Given the description of an element on the screen output the (x, y) to click on. 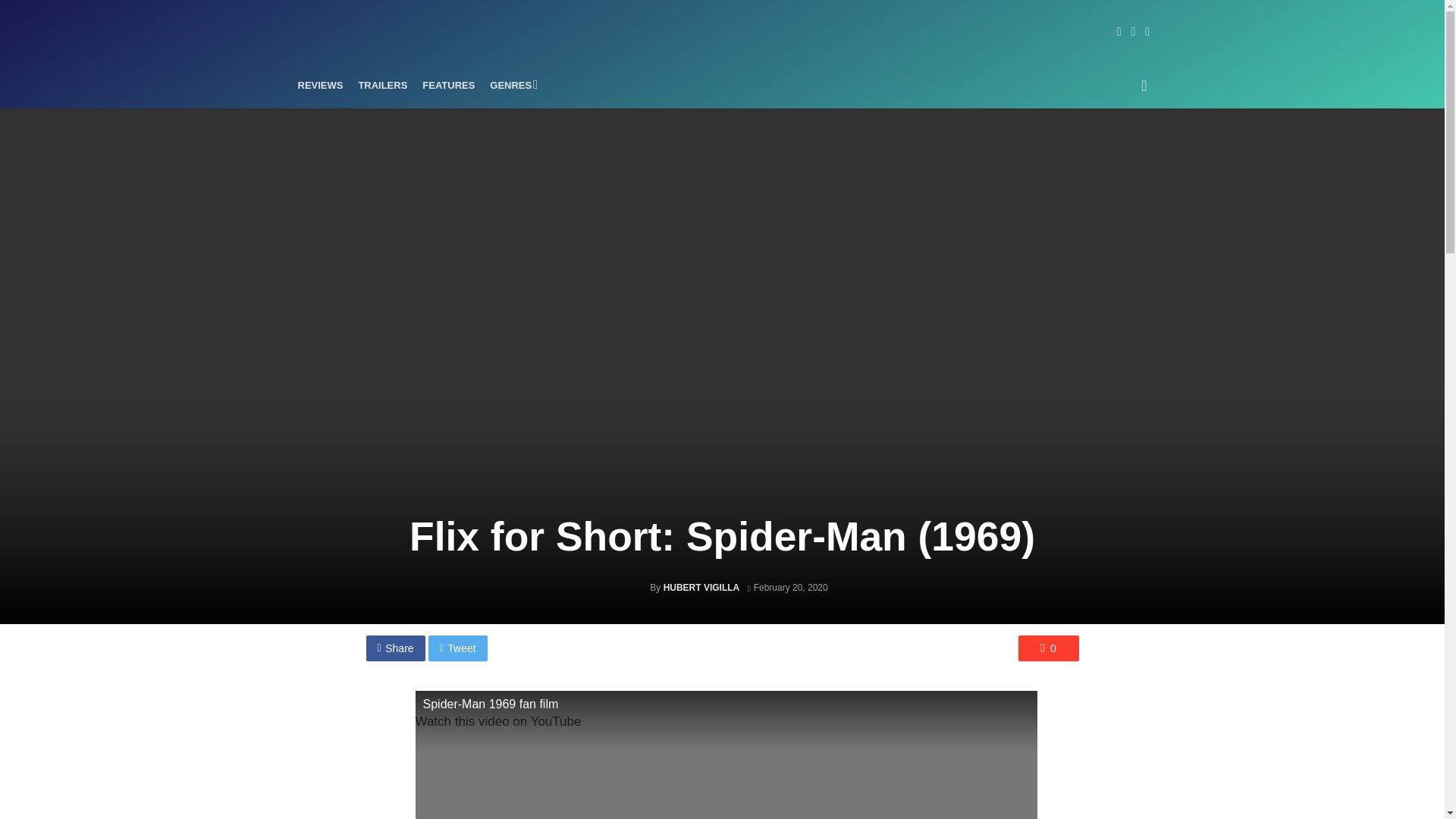
GENRES (511, 85)
Share (395, 647)
Spider-Man 1969 fan film (725, 755)
0 Comments (1047, 647)
Share on Twitter (457, 647)
REVIEWS (319, 85)
Genres (511, 85)
TRAILERS (382, 85)
Tweet (457, 647)
HUBERT VIGILLA (701, 587)
